Given the description of an element on the screen output the (x, y) to click on. 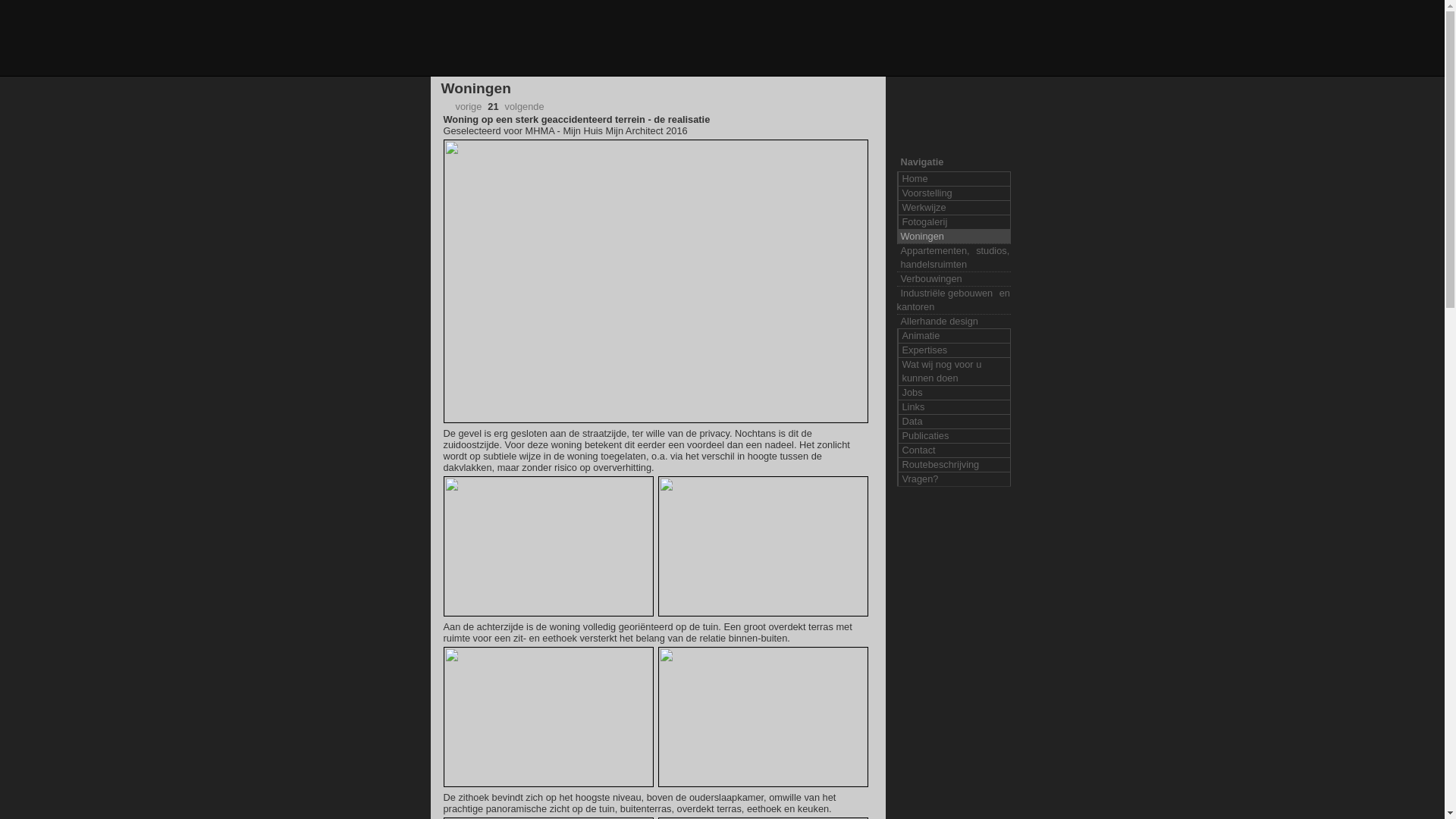
Woningen Element type: text (953, 236)
Jobs Element type: text (953, 392)
Appartementen, studios, handelsruimten Element type: text (953, 257)
Animatie Element type: text (953, 335)
Vragen? Element type: text (953, 478)
Voorstelling Element type: text (953, 192)
Allerhande design Element type: text (953, 320)
Data Element type: text (953, 421)
vorige Element type: text (463, 106)
Fotogalerij Element type: text (953, 221)
Expertises Element type: text (953, 349)
Routebeschrijving Element type: text (953, 464)
Contact Element type: text (953, 449)
Wat wij nog voor u kunnen doen Element type: text (953, 371)
volgende Element type: text (530, 106)
Werkwijze Element type: text (953, 207)
Home Element type: text (953, 178)
Links Element type: text (953, 406)
Verbouwingen Element type: text (953, 278)
Publicaties Element type: text (953, 435)
